Given the description of an element on the screen output the (x, y) to click on. 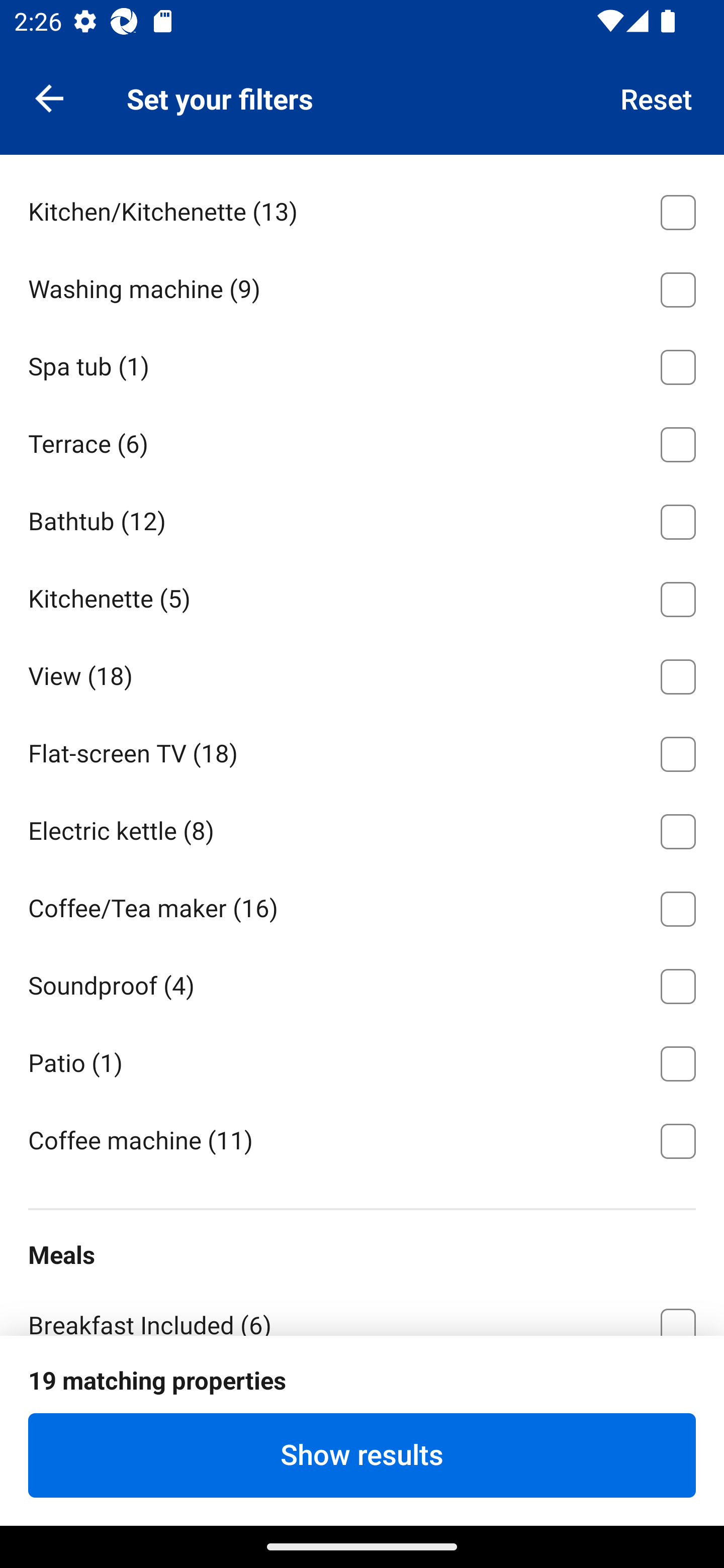
Navigate up (49, 97)
Reset (656, 97)
Kitchen/Kitchenette ⁦(13) (361, 208)
Washing machine ⁦(9) (361, 285)
Spa tub ⁦(1) (361, 363)
Terrace ⁦(6) (361, 440)
Bathtub ⁦(12) (361, 517)
Kitchenette ⁦(5) (361, 595)
View ⁦(18) (361, 673)
Flat-screen TV ⁦(18) (361, 750)
Electric kettle ⁦(8) (361, 828)
Coffee/Tea maker ⁦(16) (361, 905)
Soundproof ⁦(4) (361, 982)
Patio ⁦(1) (361, 1060)
Coffee machine ⁦(11) (361, 1139)
Breakfast Included ⁦(6) (361, 1309)
Kitchen facilities ⁦(13) (361, 1401)
Show results (361, 1454)
